Given the description of an element on the screen output the (x, y) to click on. 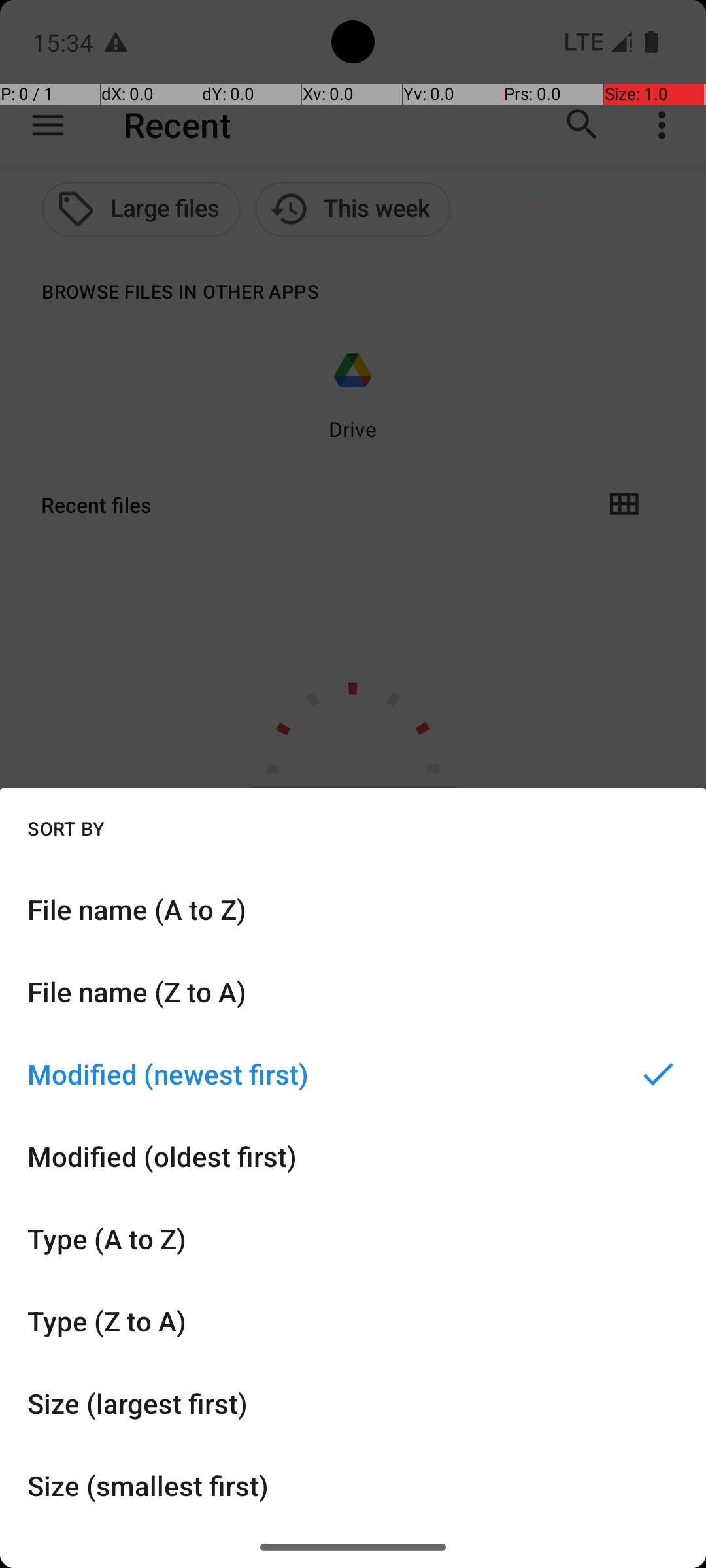
SORT BY Element type: android.widget.TextView (66, 827)
File name (A to Z) Element type: android.widget.CheckedTextView (353, 909)
File name (Z to A) Element type: android.widget.CheckedTextView (353, 991)
Modified (newest first) Element type: android.widget.CheckedTextView (353, 1073)
Modified (oldest first) Element type: android.widget.CheckedTextView (353, 1156)
Type (A to Z) Element type: android.widget.CheckedTextView (353, 1238)
Type (Z to A) Element type: android.widget.CheckedTextView (353, 1320)
Size (largest first) Element type: android.widget.CheckedTextView (353, 1403)
Size (smallest first) Element type: android.widget.CheckedTextView (353, 1485)
